Given the description of an element on the screen output the (x, y) to click on. 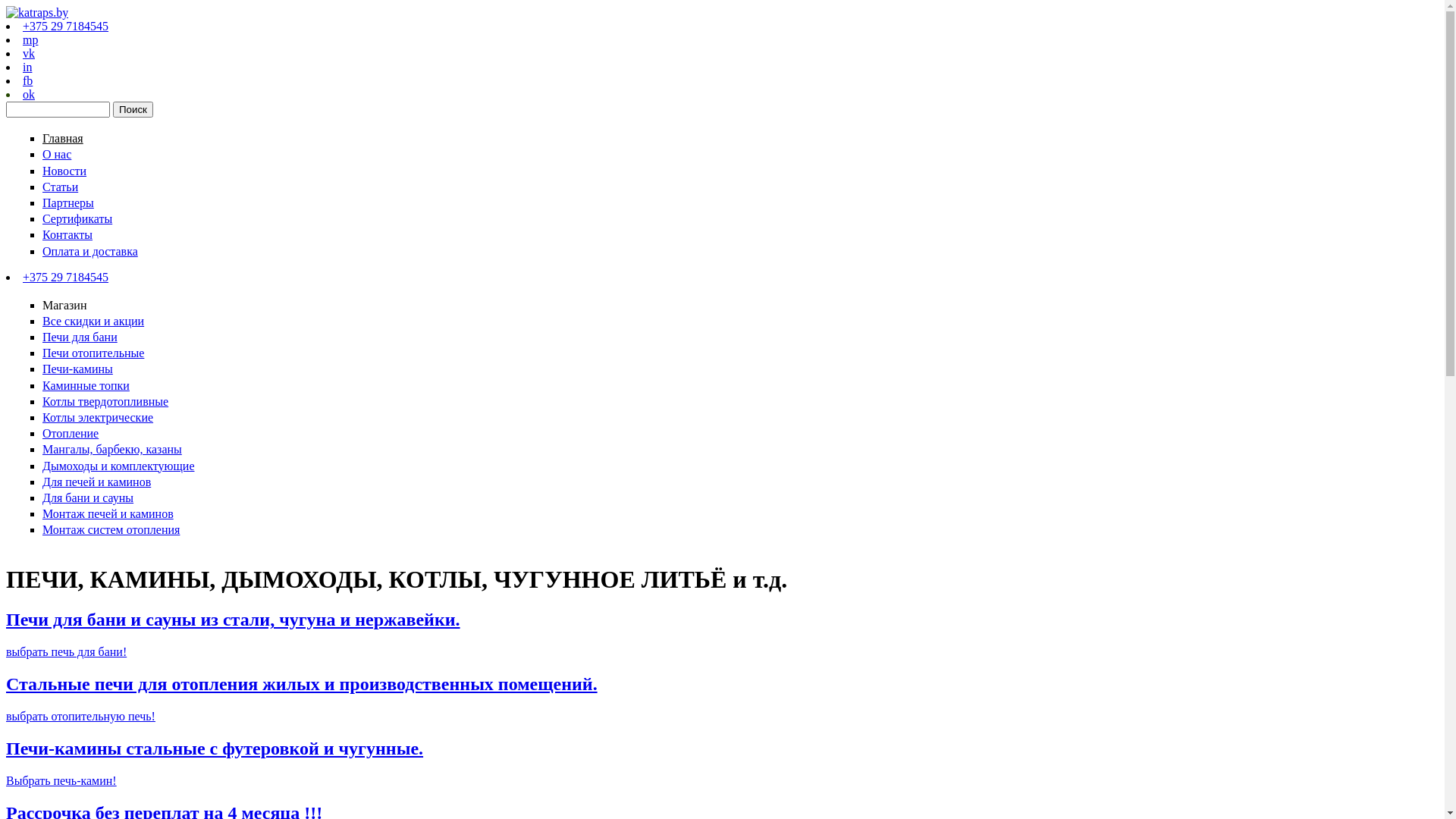
+375 29 7184545 Element type: text (65, 275)
ok Element type: text (28, 93)
vk Element type: text (28, 53)
in Element type: text (26, 66)
+375 29 7184545 Element type: text (65, 25)
fb Element type: text (27, 80)
mp Element type: text (29, 39)
